Given the description of an element on the screen output the (x, y) to click on. 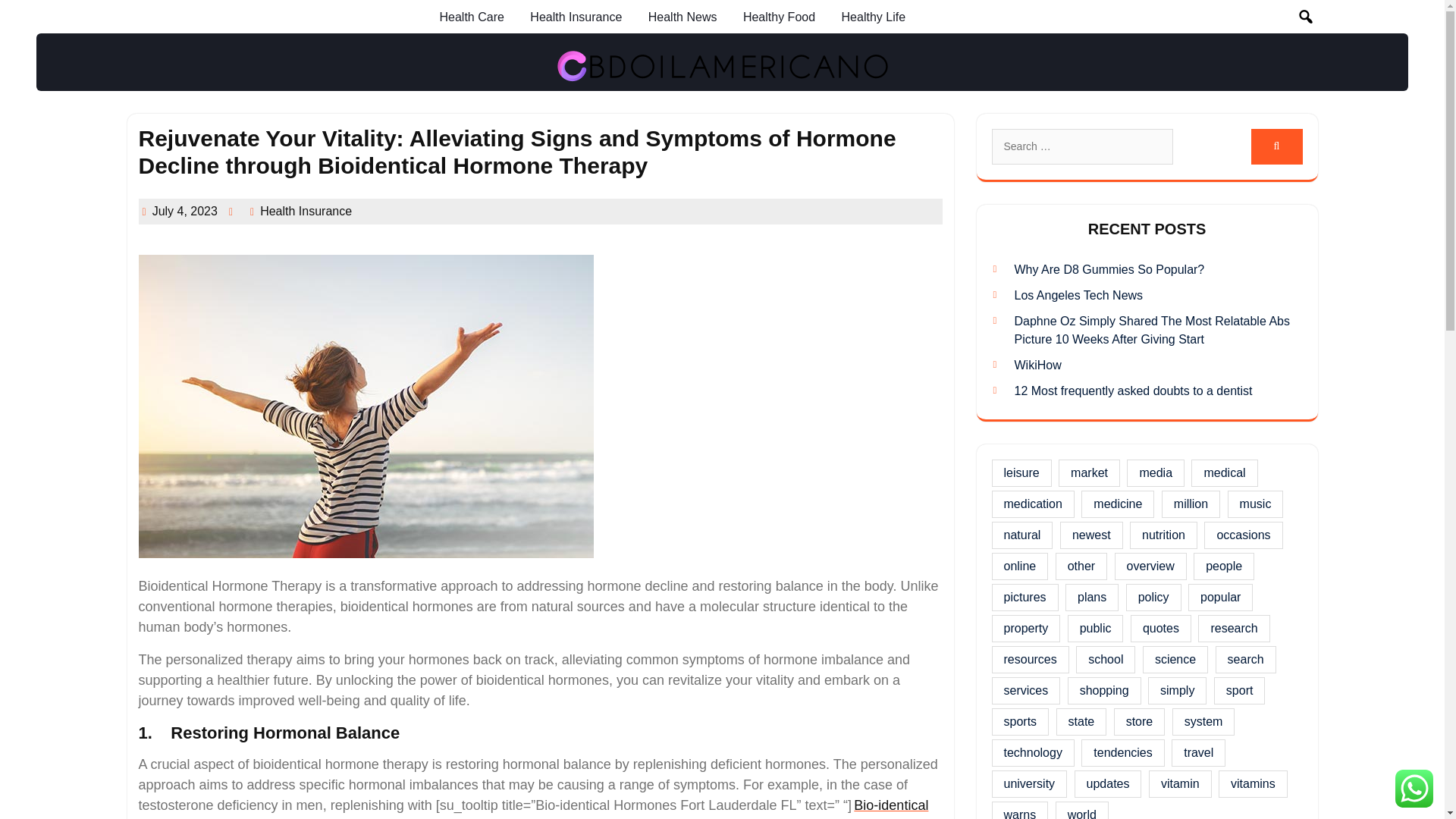
Bio-identical Hormones (533, 807)
Health News (683, 16)
newest (1090, 534)
Healthy Life (873, 16)
music (1255, 503)
million (1190, 503)
online (1019, 565)
natural (1021, 534)
overview (1150, 565)
